Given the description of an element on the screen output the (x, y) to click on. 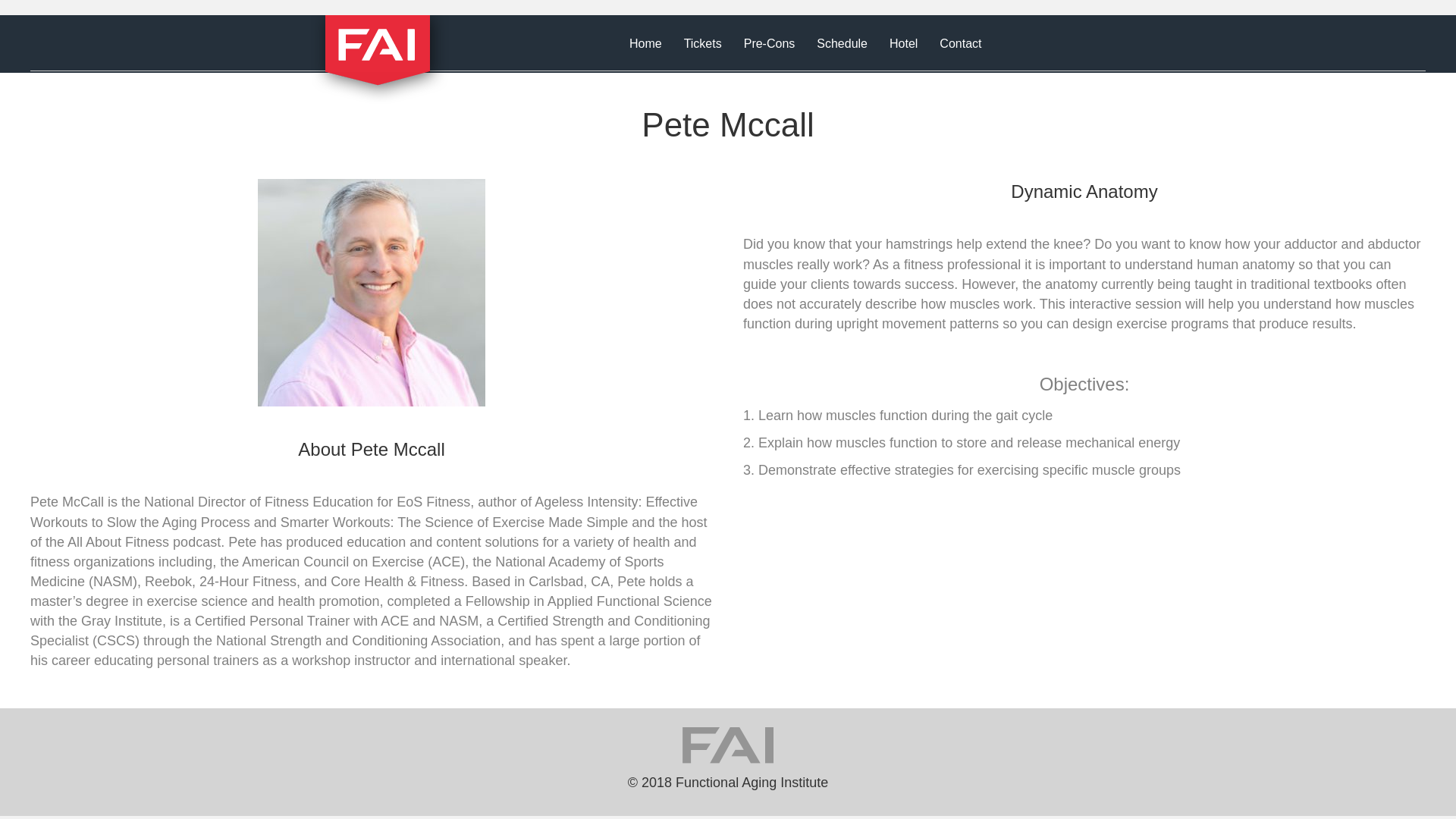
Pete Mccall (370, 292)
Schedule (841, 43)
Tickets (702, 43)
Hotel (903, 43)
Contact (959, 43)
ftlogo (727, 744)
logo (379, 59)
Home (645, 43)
Pre-Cons (769, 43)
